Given the description of an element on the screen output the (x, y) to click on. 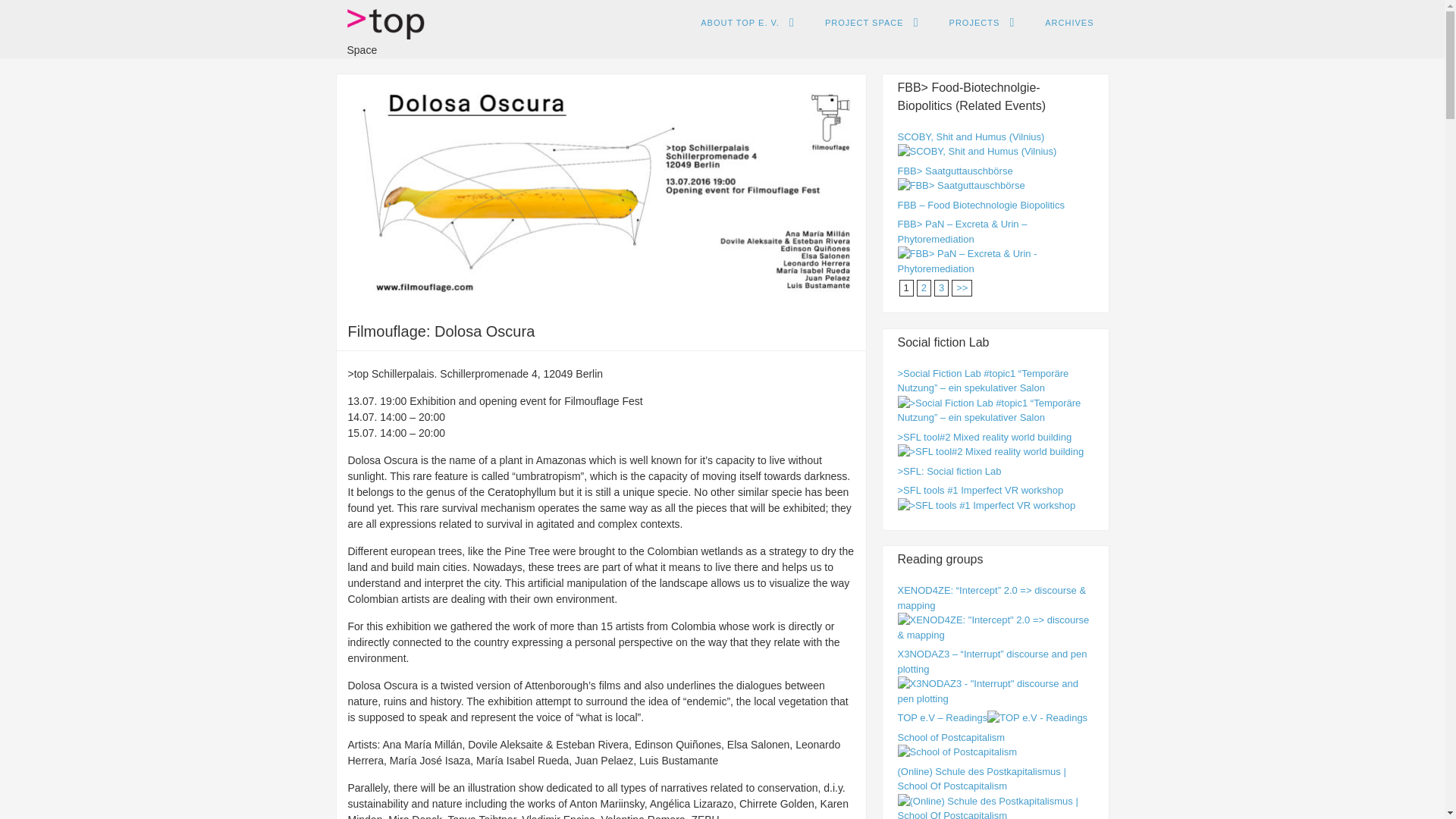
2 (962, 287)
ABOUT TOP E. V. (747, 22)
PROJECT SPACE (871, 22)
Menu (723, 27)
PROJECTS (982, 22)
Skip to content (735, 24)
School of Postcapitalism (957, 751)
X3NODAZ3 - "Interrupt" discourse and pen plotting (995, 698)
Skip to content (735, 24)
ARCHIVES (1068, 22)
